Given the description of an element on the screen output the (x, y) to click on. 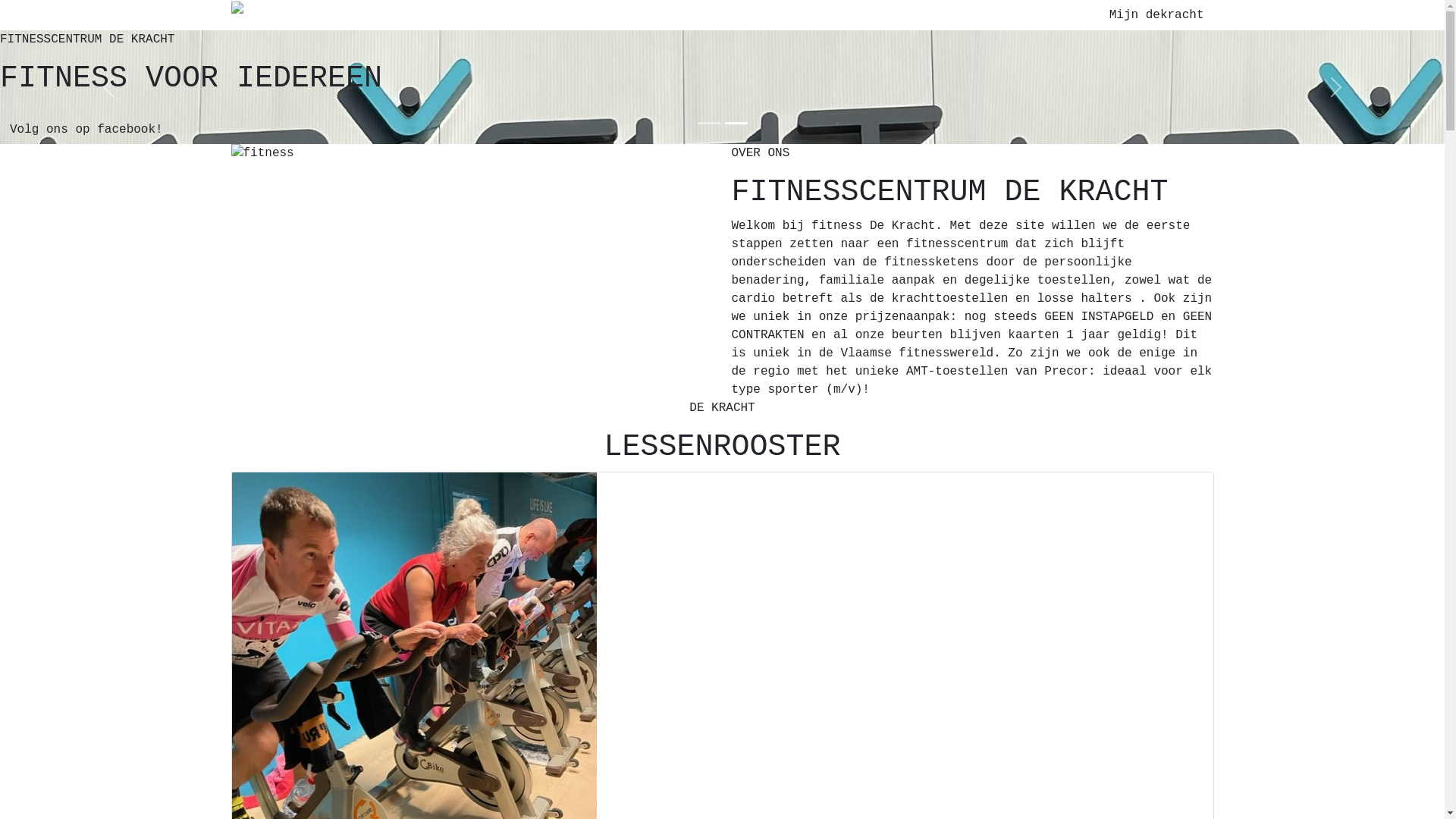
Mijn dekracht Element type: text (1156, 14)
Previous Element type: text (108, 87)
Nieuws Element type: text (741, 15)
Lessenrooster Element type: text (560, 15)
Contact Element type: text (892, 15)
Volg ons op facebook! Element type: text (367, 129)
Begeleiding Element type: text (815, 15)
Openingsuren Element type: text (663, 15)
Next Element type: text (1335, 87)
Home Element type: text (486, 15)
